Given the description of an element on the screen output the (x, y) to click on. 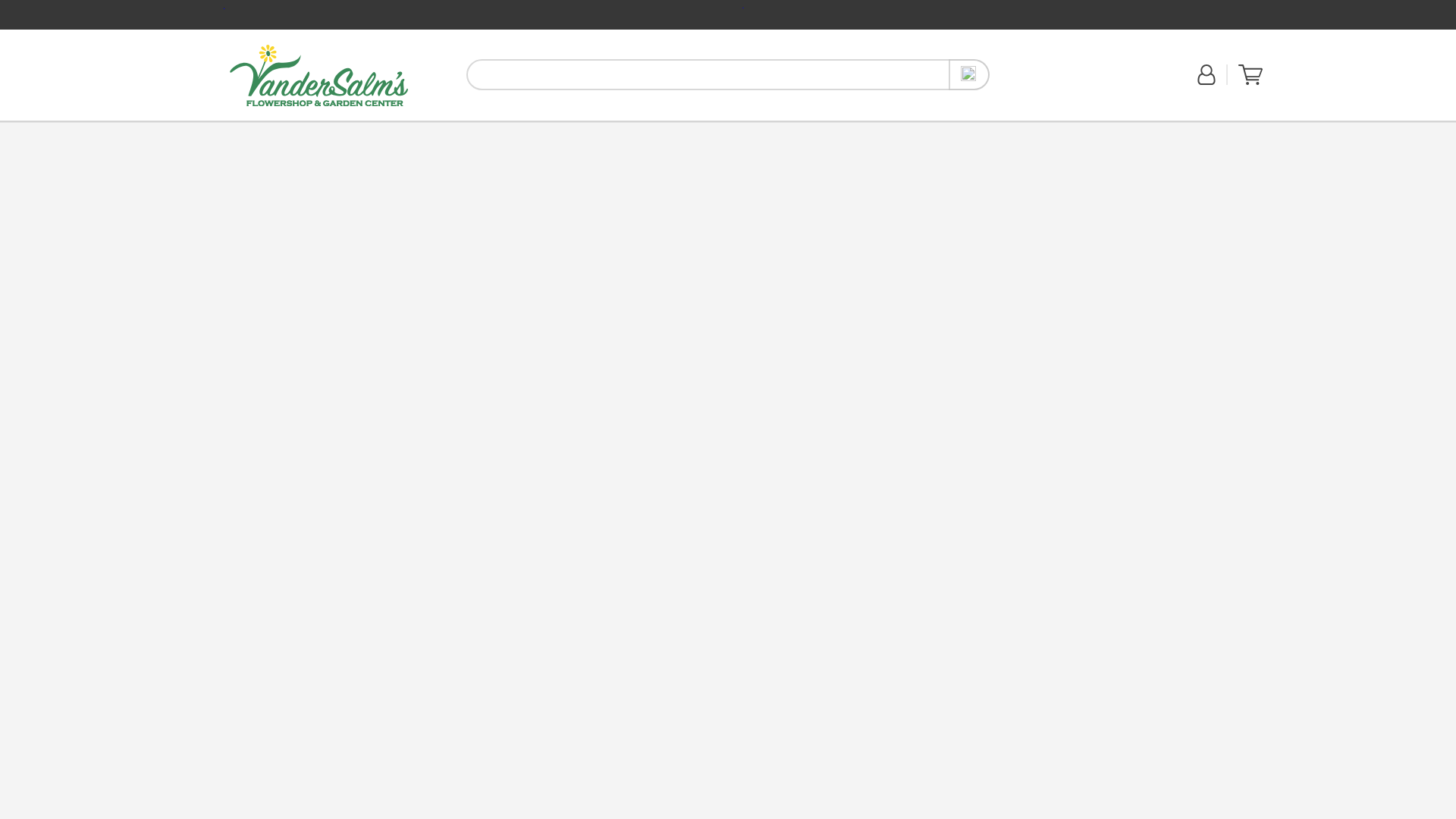
Get Well (330, 128)
Birthday (292, 128)
Set ZIP Code (1044, 83)
Best Sellers (375, 128)
View Your Shopping Cart (1250, 81)
Back to the Home Page (318, 75)
Search (969, 74)
Occasions (426, 129)
View Your Shopping Cart (1250, 74)
Vandersalm's Flowershop and Garden Center Logo (317, 75)
